Given the description of an element on the screen output the (x, y) to click on. 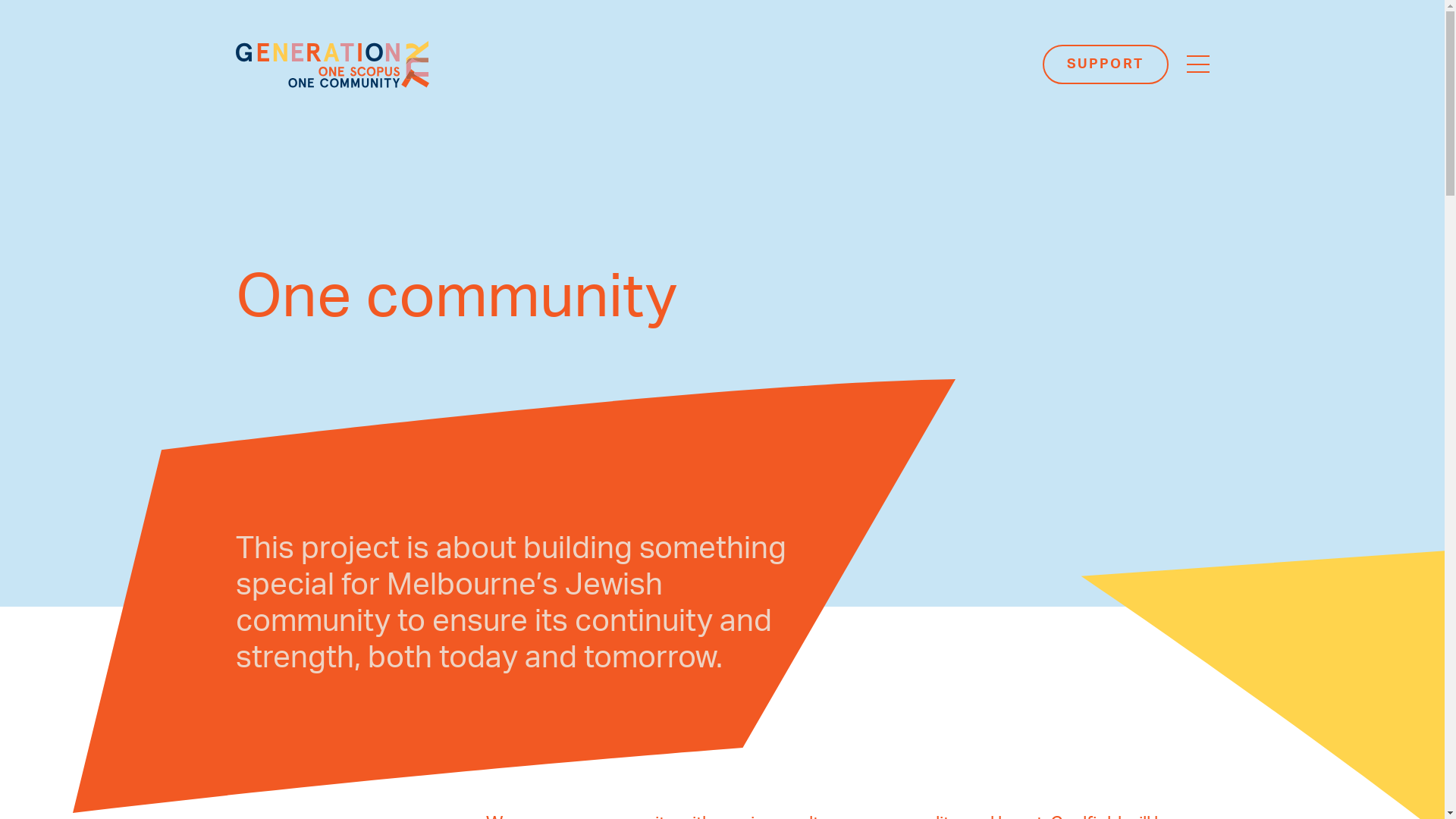
SUPPORT Element type: text (1104, 64)
